Given the description of an element on the screen output the (x, y) to click on. 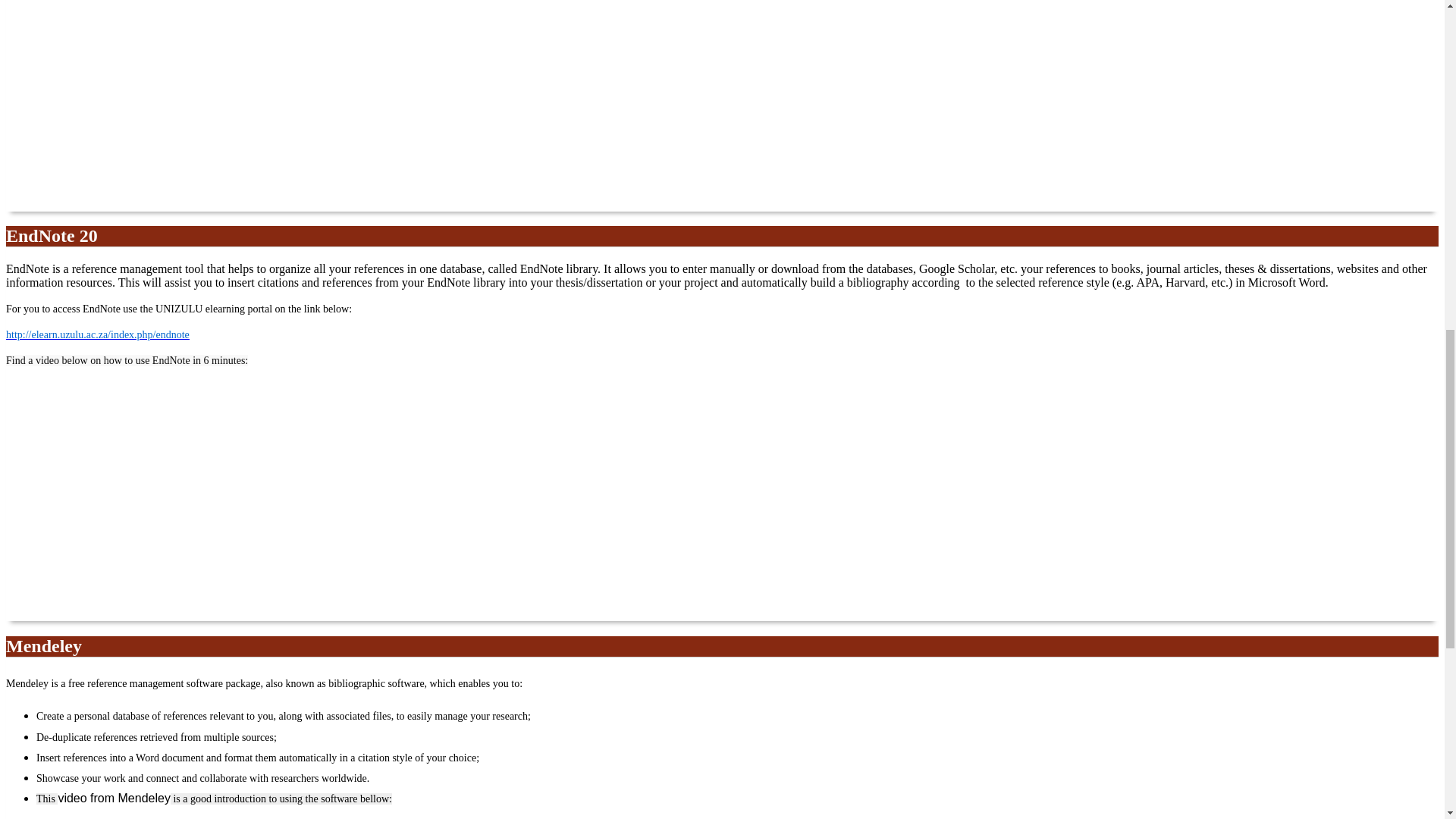
YouTube video player (217, 104)
YouTube video player (217, 498)
